Given the description of an element on the screen output the (x, y) to click on. 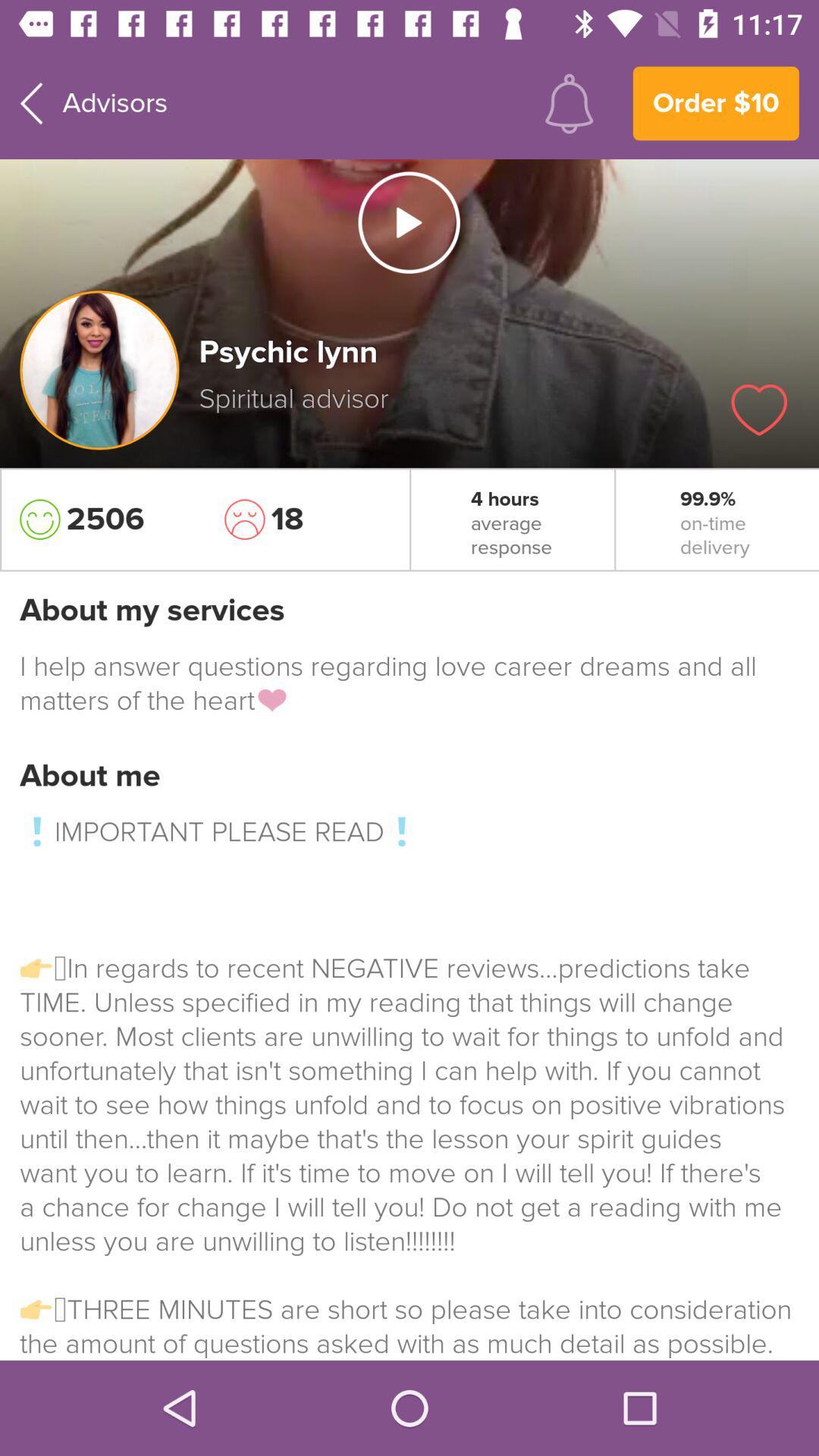
open icon next to the 18 item (102, 519)
